Given the description of an element on the screen output the (x, y) to click on. 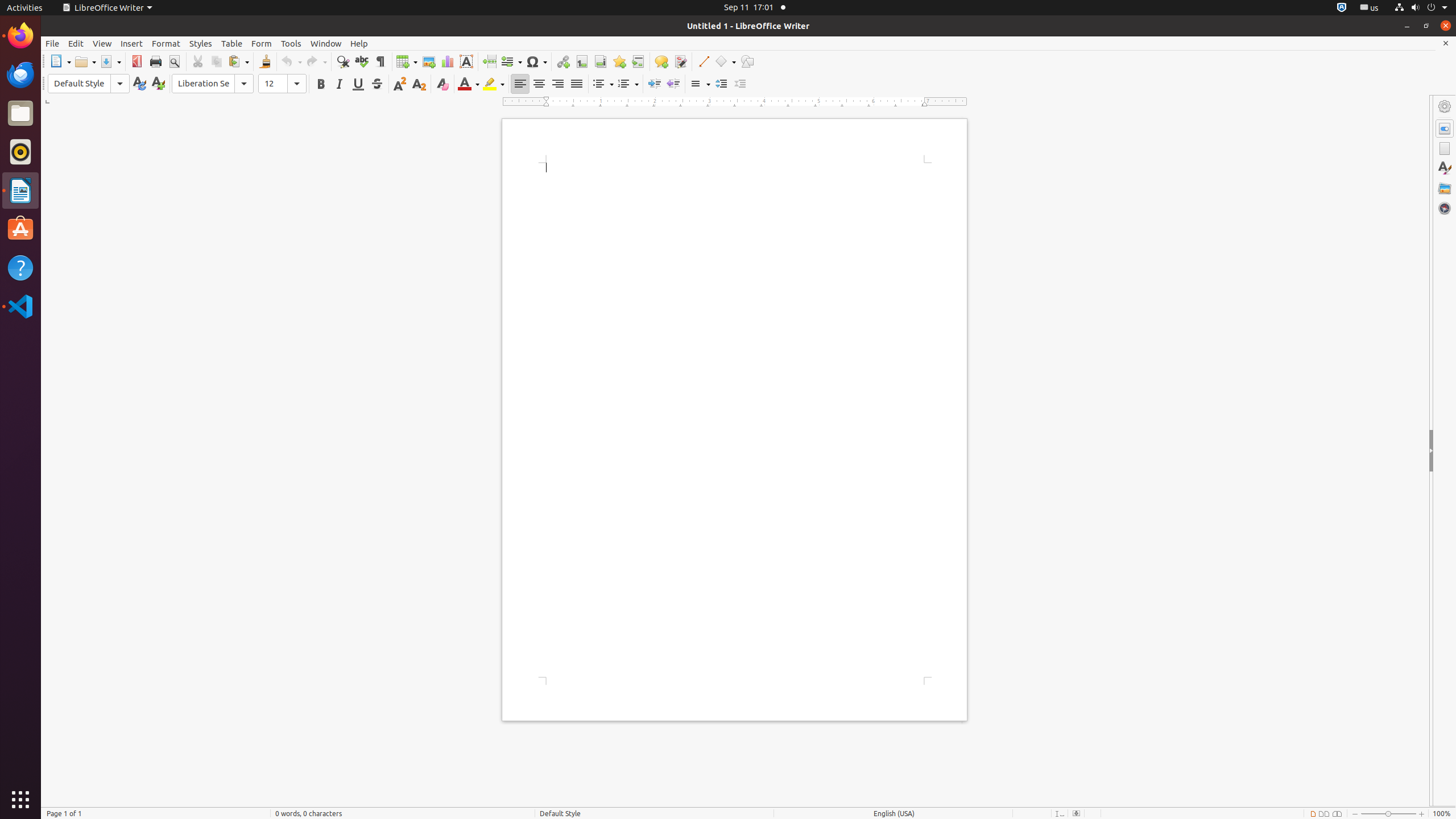
Footnote Element type: push-button (581, 61)
Properties Element type: radio-button (1444, 128)
Font Name Element type: combo-box (212, 83)
Styles Element type: radio-button (1444, 168)
Subscript Element type: toggle-button (418, 83)
